Given the description of an element on the screen output the (x, y) to click on. 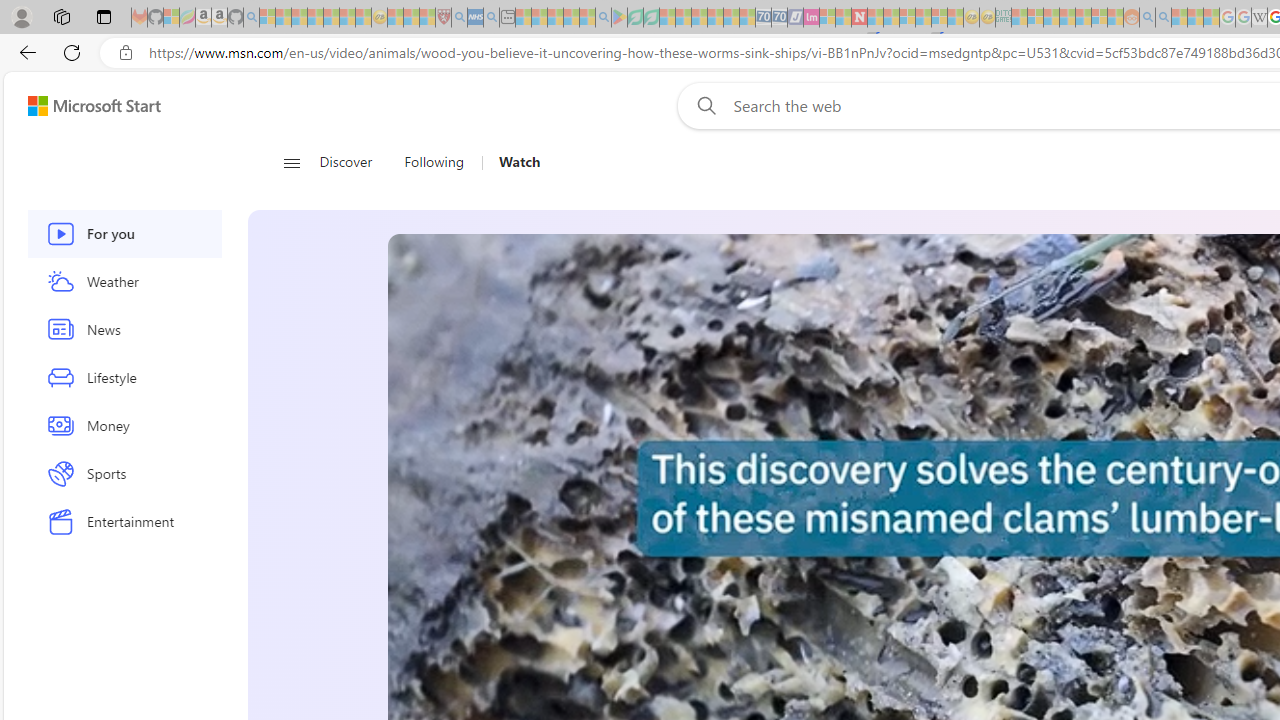
Target page - Wikipedia - Sleeping (1259, 17)
Glass Octopus Captured in Rare Footage By Underwater Robot/ (909, 578)
Terms of Use Agreement - Sleeping (635, 17)
New Report Confirms 2023 Was Record Hot | Watch - Sleeping (331, 17)
Live Science (982, 558)
